Given the description of an element on the screen output the (x, y) to click on. 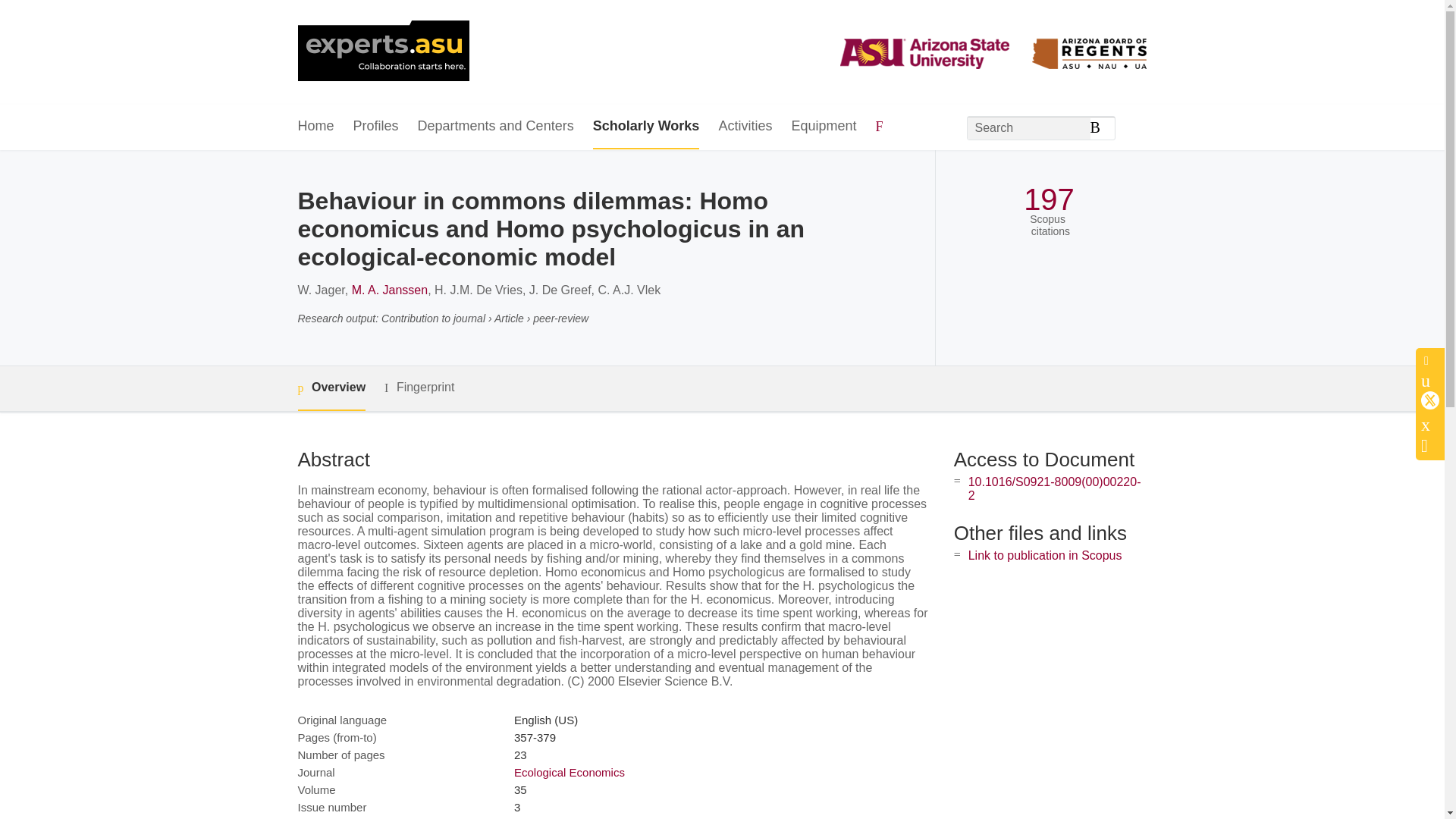
Overview (331, 388)
M. A. Janssen (390, 289)
Departments and Centers (495, 126)
Activities (744, 126)
Equipment (823, 126)
Link to publication in Scopus (1045, 554)
197 (1048, 199)
Profiles (375, 126)
Ecological Economics (568, 771)
